Given the description of an element on the screen output the (x, y) to click on. 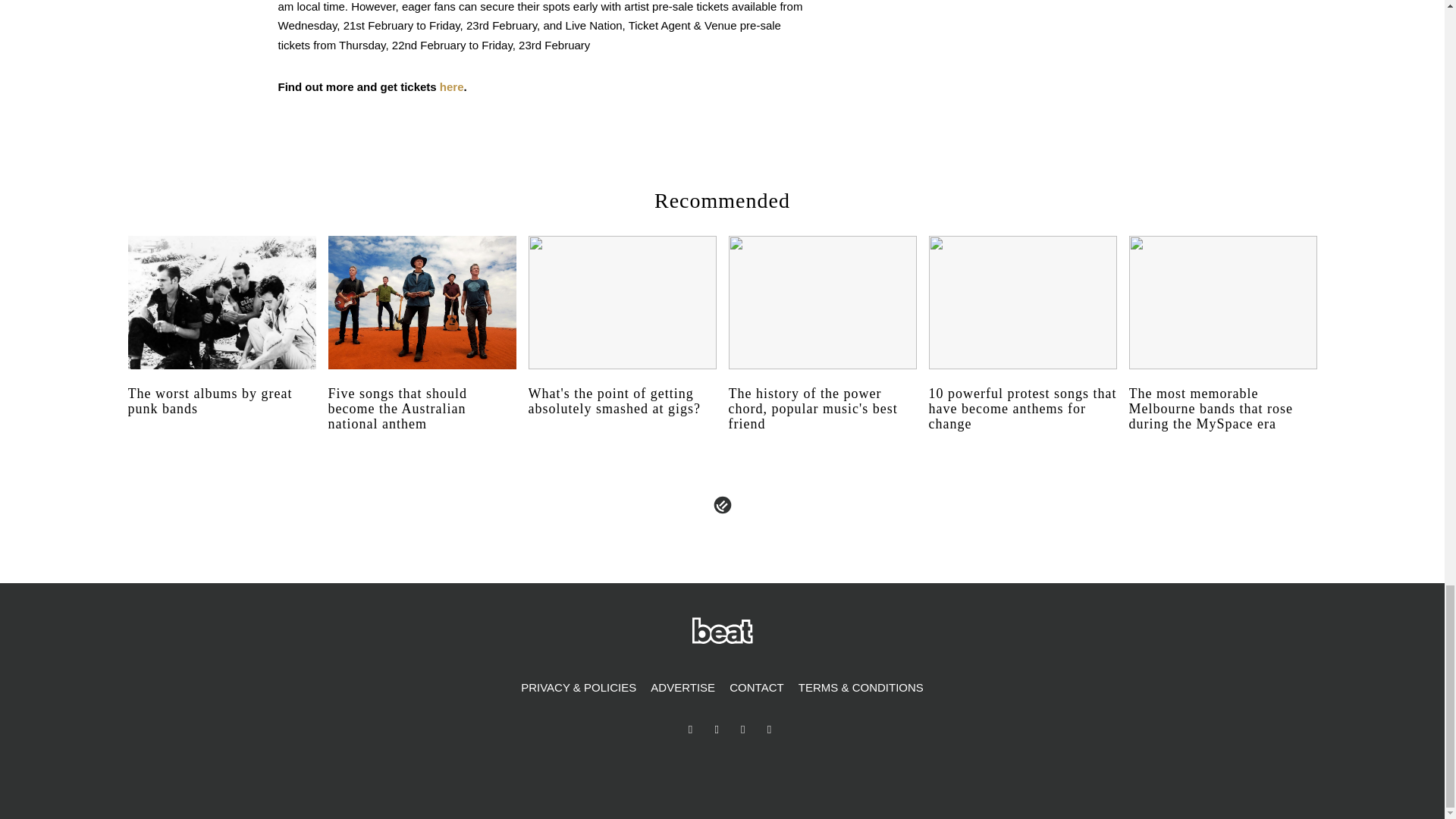
The worst albums by great punk bands (221, 415)
The history of the power chord, popular music's best friend (821, 422)
Five songs that should become the Australian national anthem (421, 422)
here (451, 86)
What's the point of getting absolutely smashed at gigs? (621, 415)
